Given the description of an element on the screen output the (x, y) to click on. 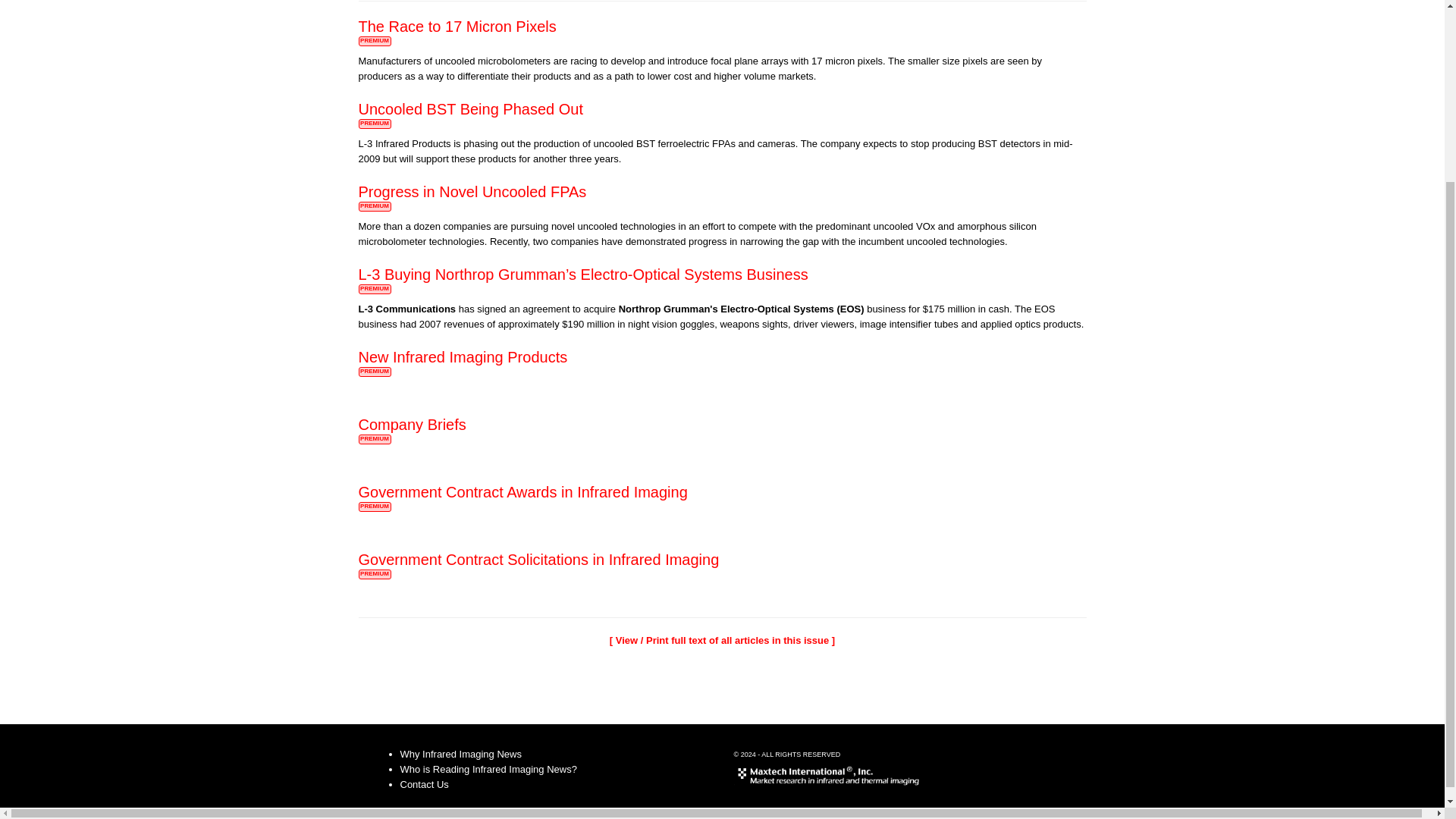
Company Briefs (411, 424)
The Race to 17 Micron Pixels (457, 26)
Who is Reading Infrared Imaging News? (488, 768)
Government Contract Solicitations in Infrared Imaging (538, 559)
Progress in Novel Uncooled FPAs (472, 191)
Why Infrared Imaging News (460, 754)
Uncooled BST Being Phased Out (470, 108)
New Infrared Imaging Products (462, 356)
Government Contract Awards in Infrared Imaging (522, 492)
